Given the description of an element on the screen output the (x, y) to click on. 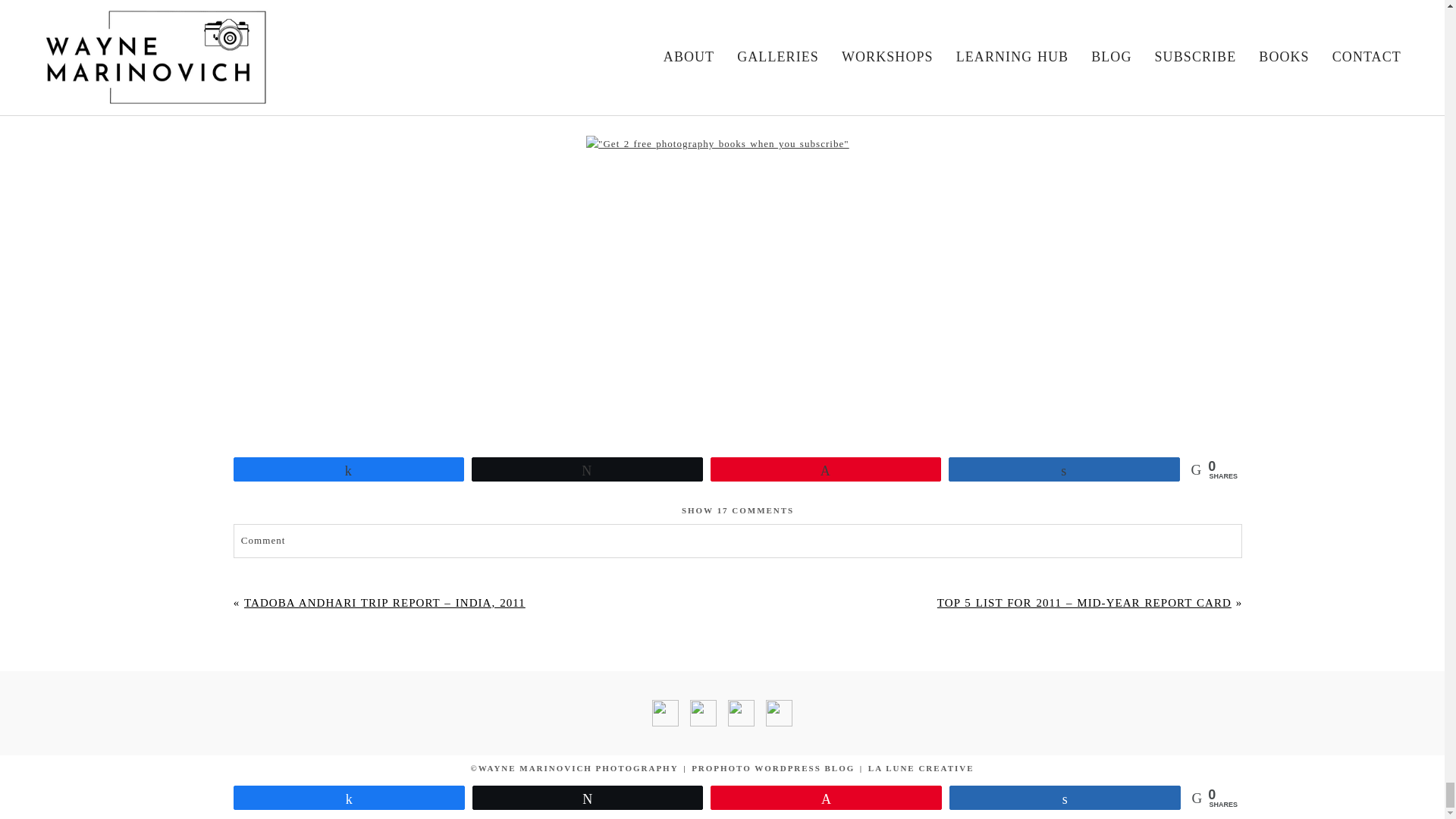
South Africa (555, 21)
SHOW 17 COMMENTS (737, 510)
